Given the description of an element on the screen output the (x, y) to click on. 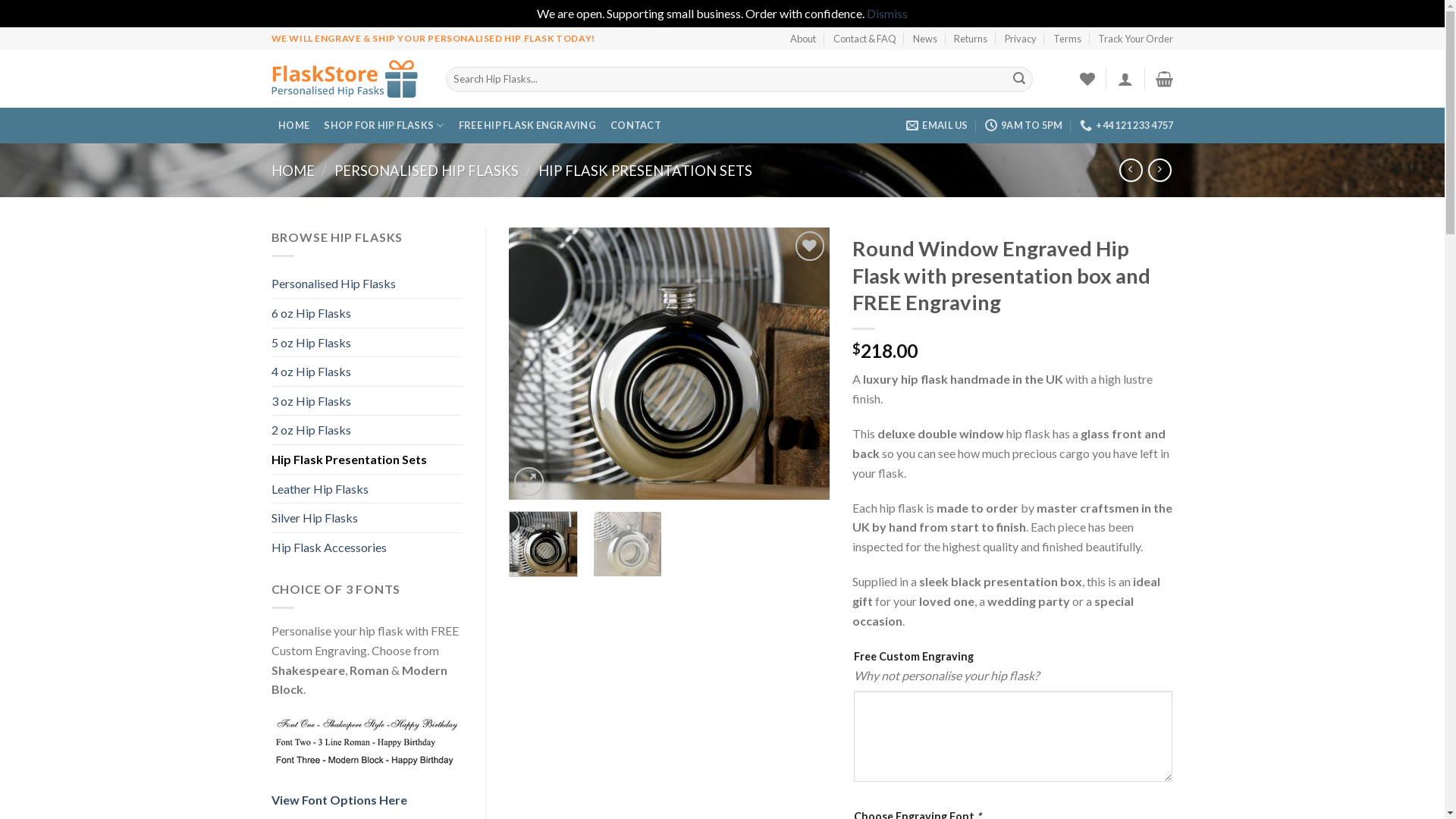
Hip Flask Accessories Element type: text (367, 547)
3 oz Hip Flasks Element type: text (367, 400)
News Element type: text (925, 38)
Zoom Element type: hover (528, 481)
HOME Element type: text (293, 125)
About Element type: text (802, 38)
5 oz Hip Flasks Element type: text (367, 342)
4 oz Hip Flasks Element type: text (367, 371)
Privacy Element type: text (1020, 38)
Dismiss Element type: text (886, 13)
6 oz Hip Flasks Element type: text (367, 312)
Personalised Hip Flasks Element type: text (367, 283)
Silver Hip Flasks Element type: text (367, 517)
Track Your Order Element type: text (1135, 38)
2 oz Hip Flasks Element type: text (367, 429)
HOME Element type: text (292, 170)
Returns Element type: text (970, 38)
EMAIL US Element type: text (936, 124)
Basket Element type: hover (1164, 78)
Hip Flask Presentation Sets Element type: text (367, 459)
SHOP FOR HIP FLASKS Element type: text (383, 125)
HIP FLASK PRESENTATION SETS Element type: text (645, 170)
View Font Options Here Element type: text (339, 799)
Terms Element type: text (1067, 38)
Leather Hip Flasks Element type: text (367, 488)
Search Element type: text (1019, 78)
Contact & FAQ Element type: text (864, 38)
FREE HIP FLASK ENGRAVING Element type: text (526, 125)
+44 121 233 4757 Element type: text (1126, 124)
PERSONALISED HIP FLASKS Element type: text (426, 170)
CONTACT Element type: text (635, 125)
9AM TO 5PM Element type: text (1024, 124)
